Given the description of an element on the screen output the (x, y) to click on. 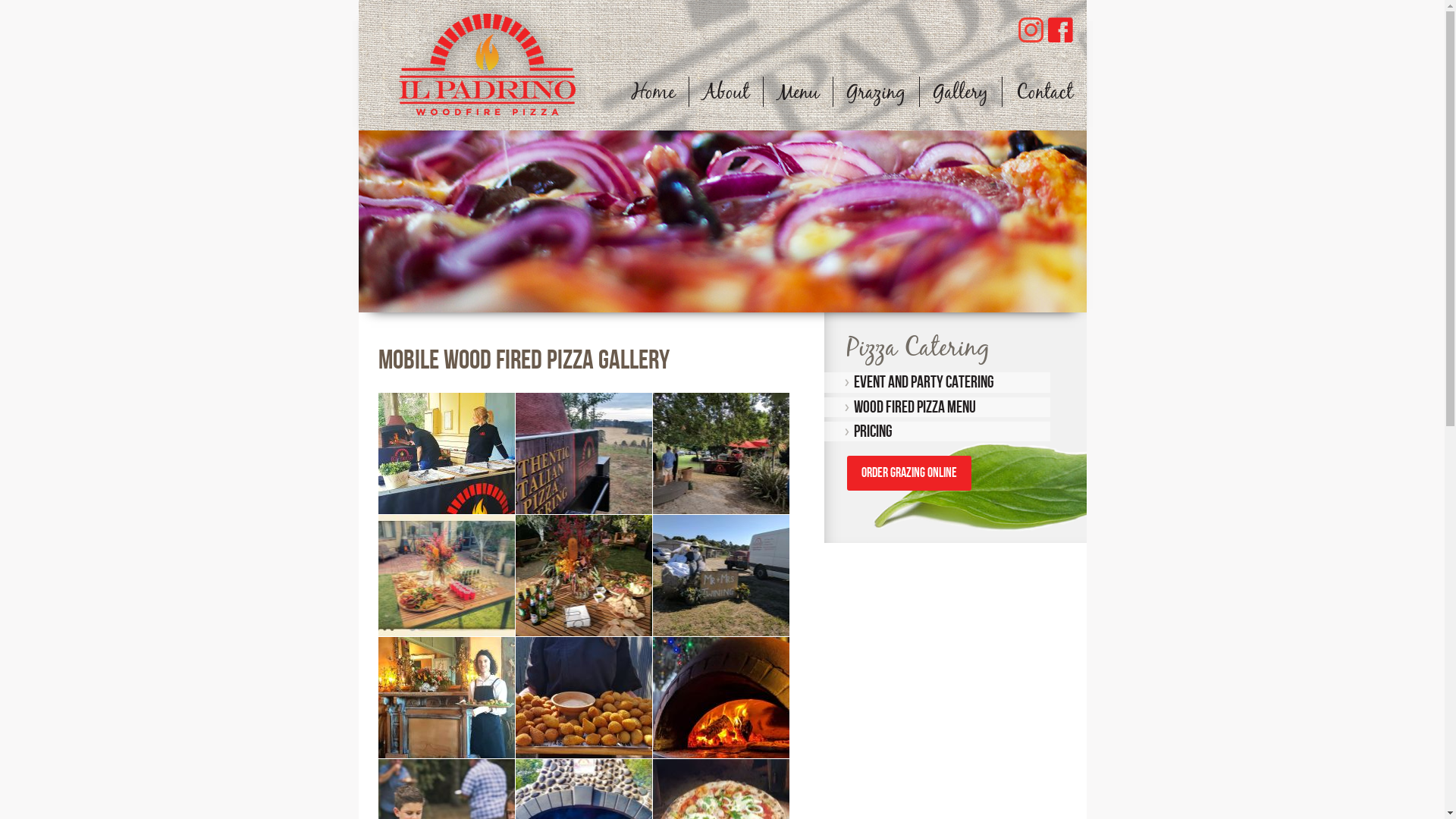
You are viewing the image with filename 1532199109234.png Element type: hover (445, 453)
ORDER GRAZING ONLINE Element type: text (909, 472)
Home Element type: text (652, 91)
You are viewing the image with filename Arancini-1.jpg Element type: hover (583, 697)
Contact Element type: text (1044, 91)
Grazing Element type: text (875, 91)
Gallery Element type: text (960, 91)
Event and party catering Element type: text (937, 382)
Pricing Element type: text (937, 431)
Menu Element type: text (796, 91)
Wood fired pizza menu Element type: text (937, 407)
About Element type: text (725, 91)
You are viewing the image with filename Christmas.jpg Element type: hover (720, 697)
